Given the description of an element on the screen output the (x, y) to click on. 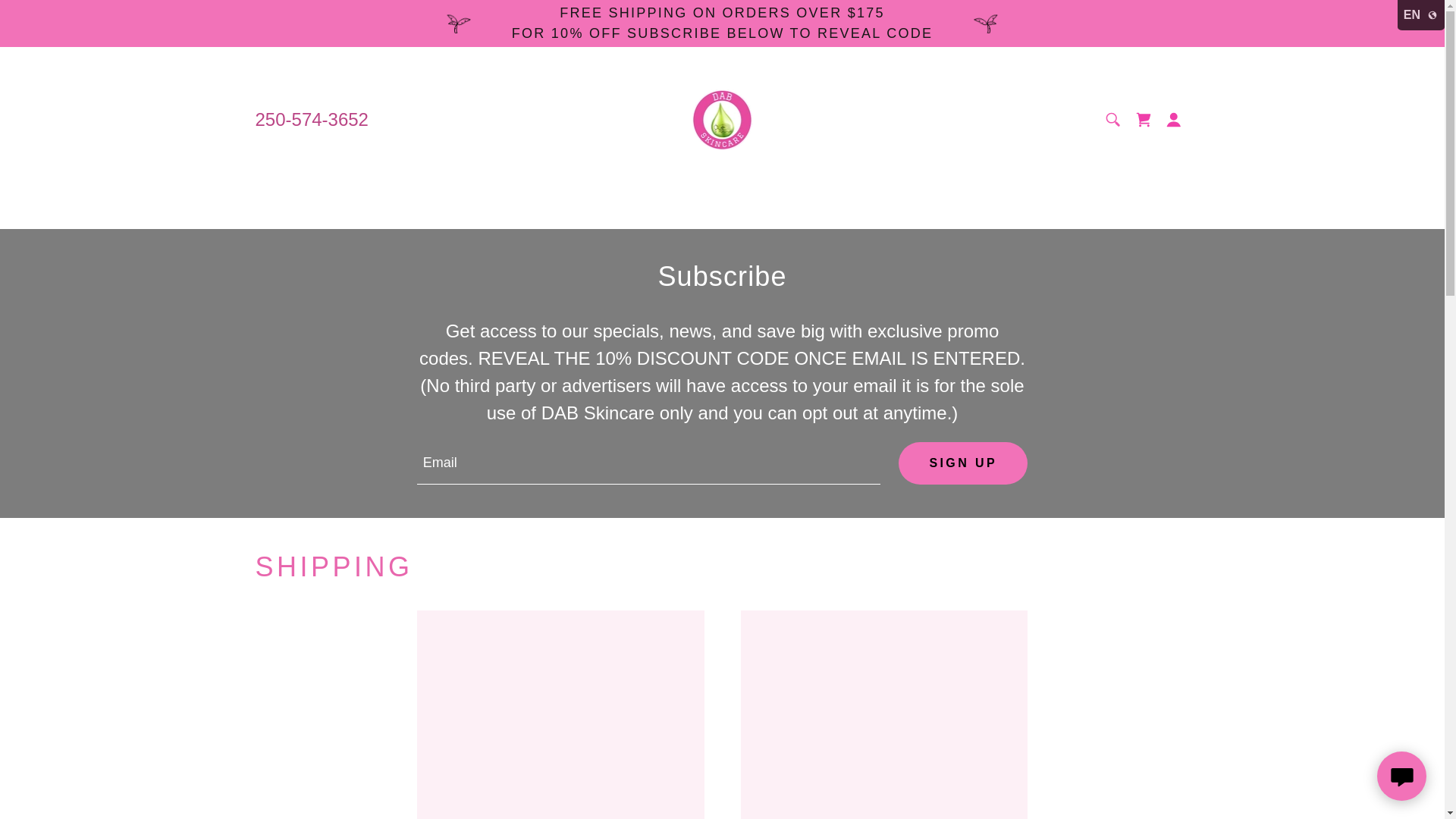
250-574-3652 (311, 118)
DAB Skincare (722, 118)
